Given the description of an element on the screen output the (x, y) to click on. 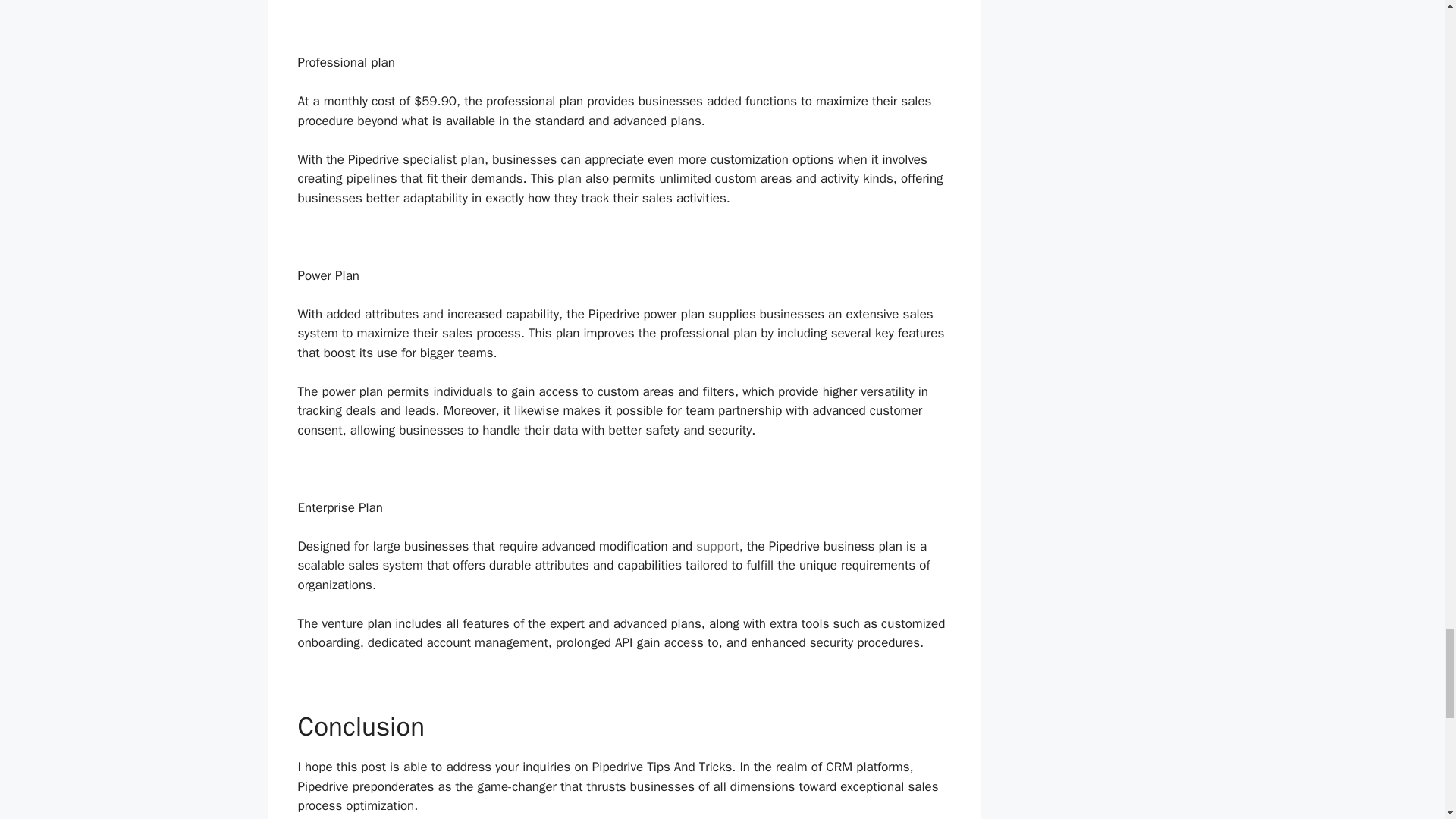
support (716, 546)
